Given the description of an element on the screen output the (x, y) to click on. 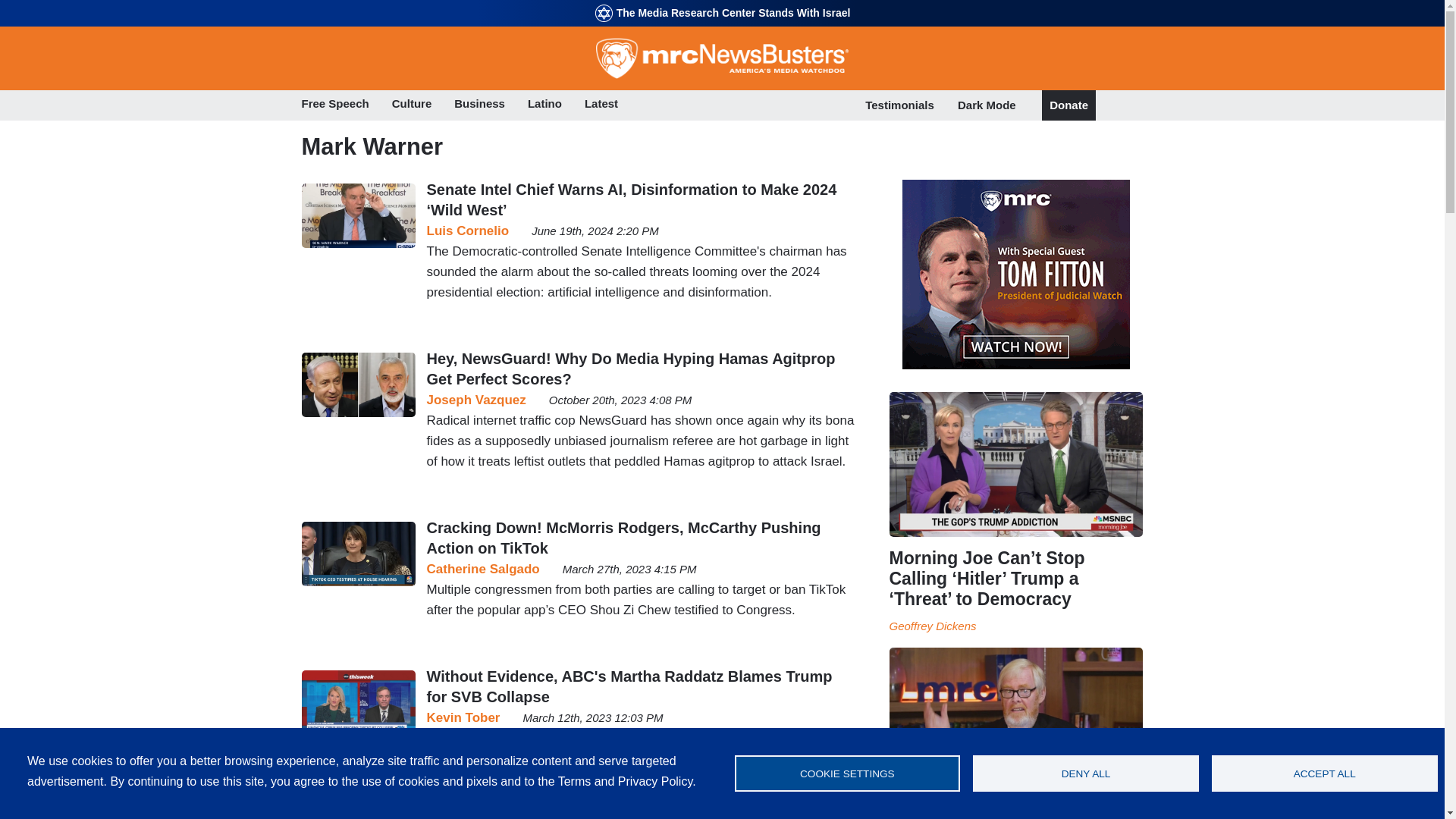
ACCEPT ALL (1324, 773)
Culture (411, 105)
Business (479, 105)
Free Speech (335, 105)
Dark Mode (987, 104)
Skip to main content (721, 1)
COOKIE SETTINGS (846, 773)
DENY ALL (1085, 773)
Testimonials (899, 104)
Latino (544, 105)
Donate (1068, 105)
Latest (601, 105)
